Given the description of an element on the screen output the (x, y) to click on. 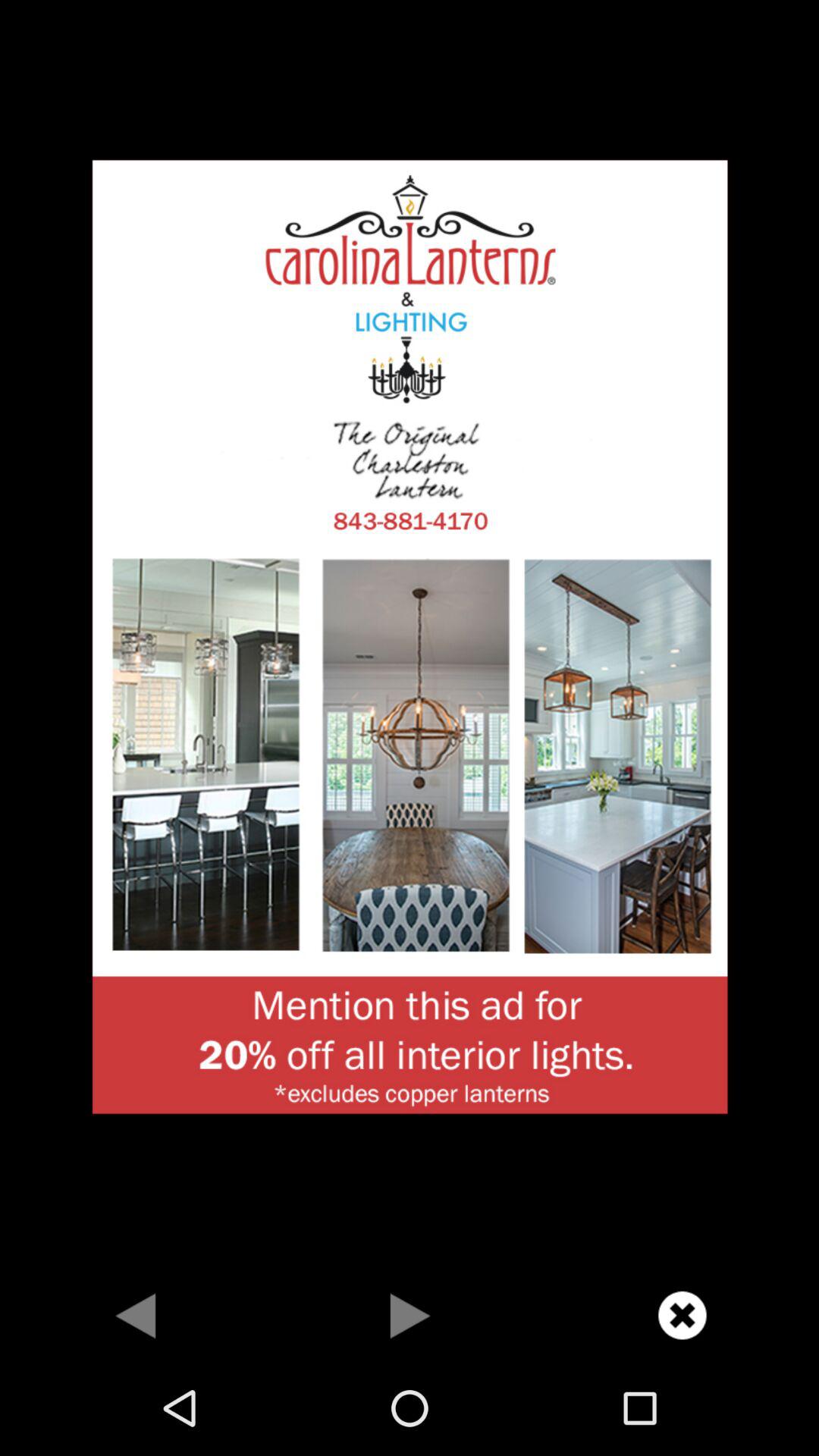
go back (136, 1315)
